Given the description of an element on the screen output the (x, y) to click on. 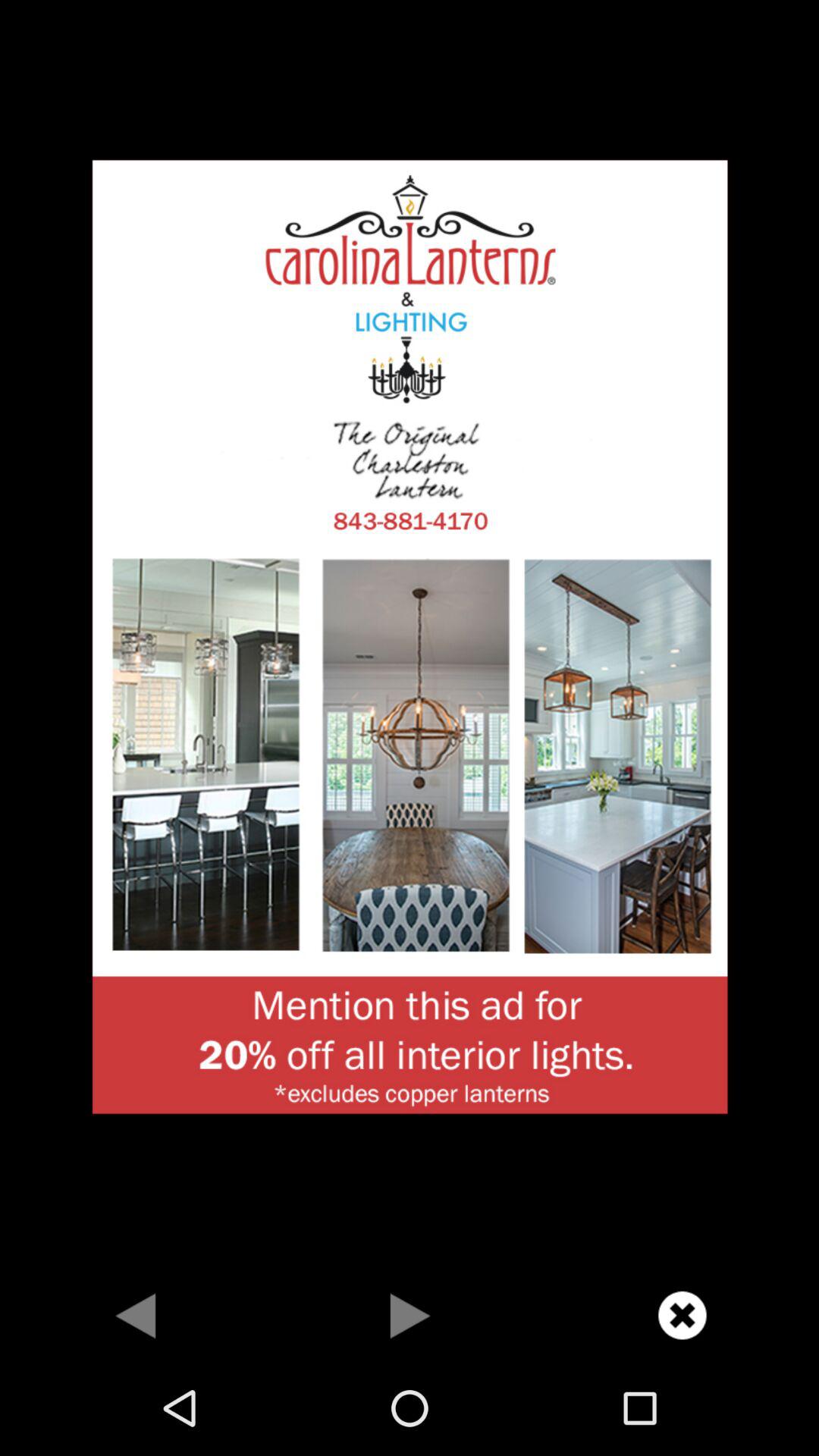
go back (136, 1315)
